Given the description of an element on the screen output the (x, y) to click on. 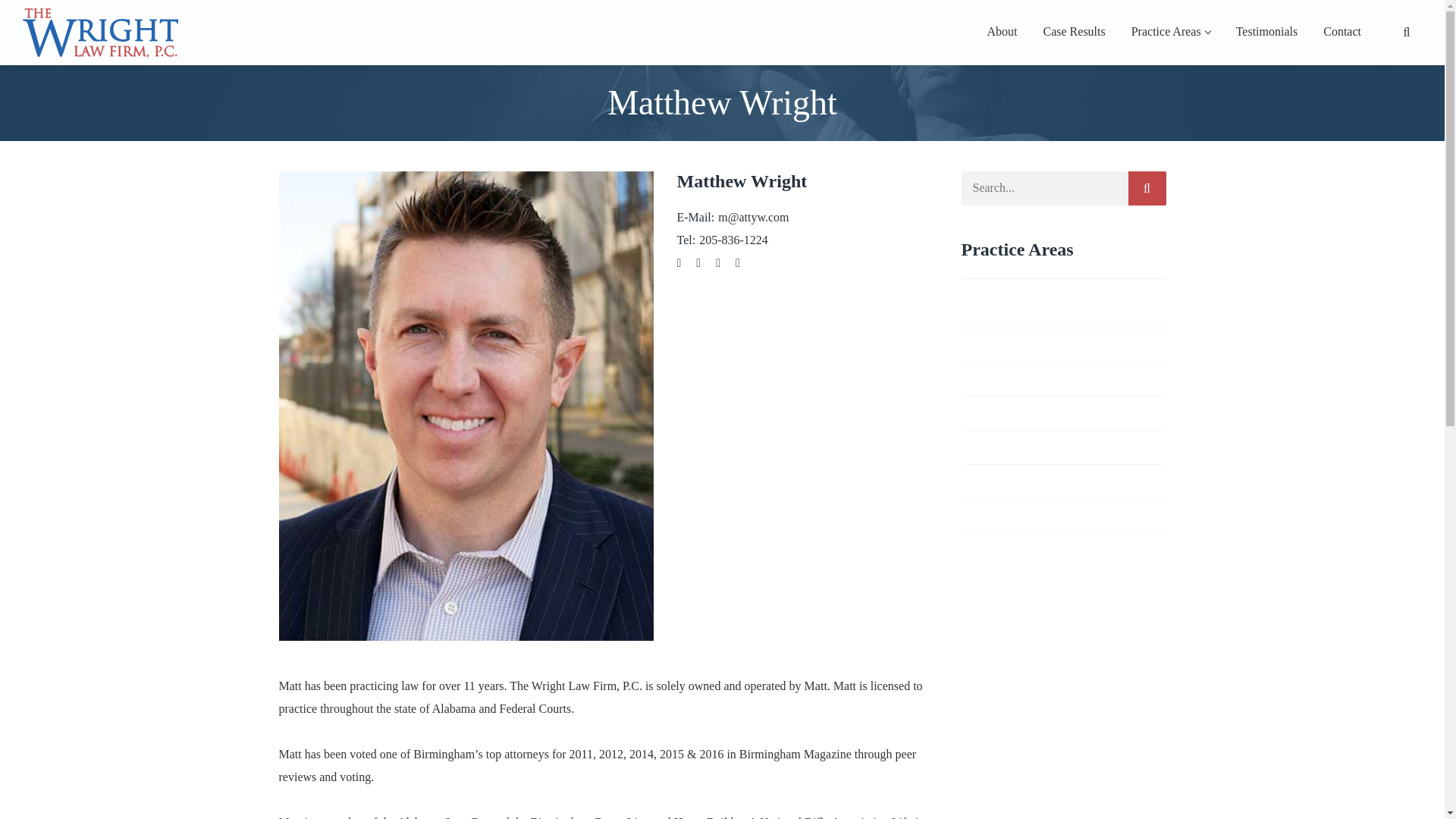
Search (1396, 80)
Case Results (1074, 32)
Testimonials (1267, 32)
Practice Areas (1171, 32)
